Given the description of an element on the screen output the (x, y) to click on. 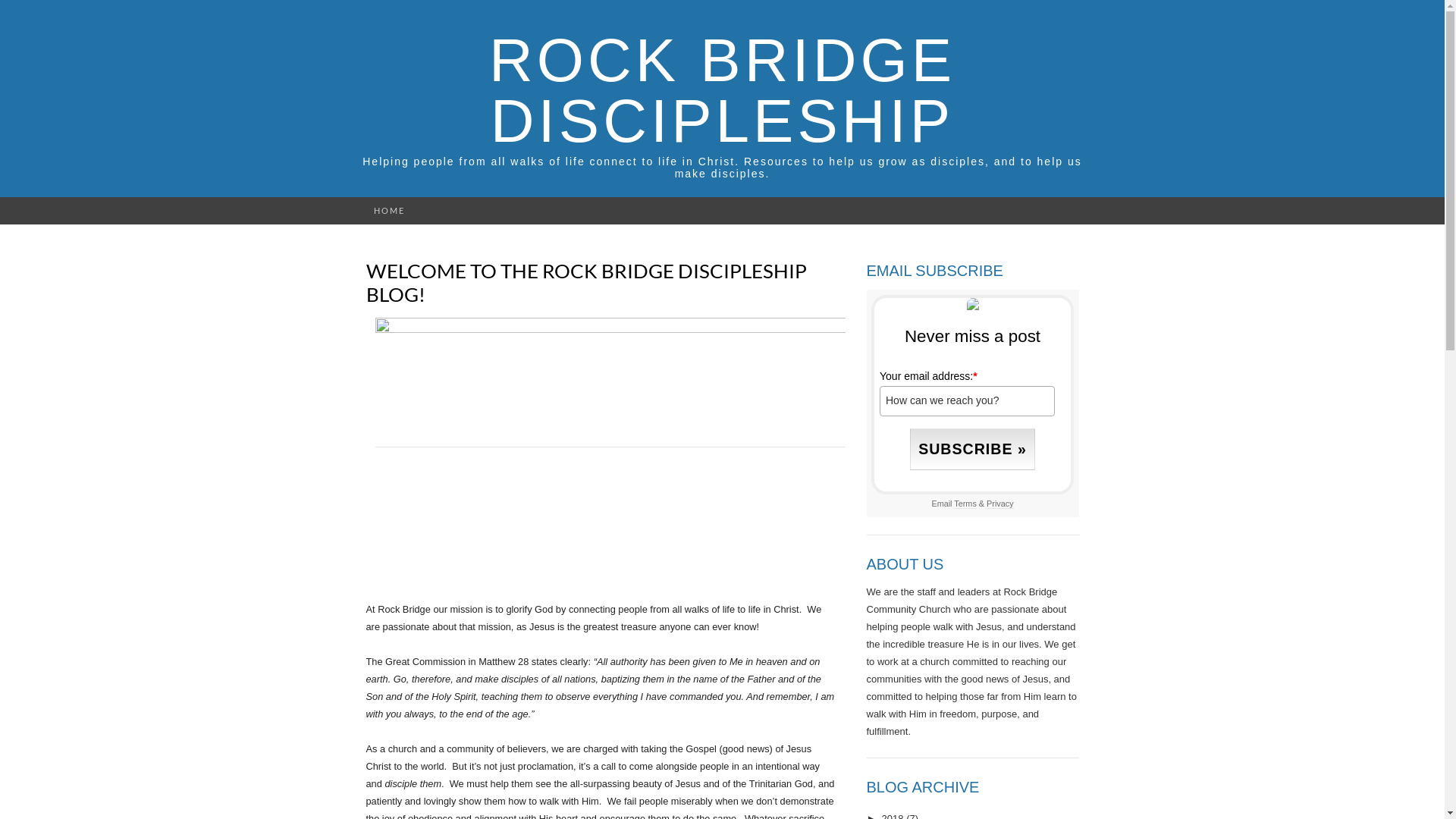
Search for: Element type: hover (1069, 210)
Search Element type: text (15, 12)
Privacy Element type: text (999, 503)
How can we reach you? Element type: hover (966, 400)
Terms Element type: text (964, 503)
WELCOME TO THE ROCK BRIDGE DISCIPLESHIP BLOG! Element type: text (585, 282)
click to join Element type: hover (972, 449)
HOME Element type: text (388, 210)
ROCK BRIDGE DISCIPLESHIP Element type: text (722, 90)
